Given the description of an element on the screen output the (x, y) to click on. 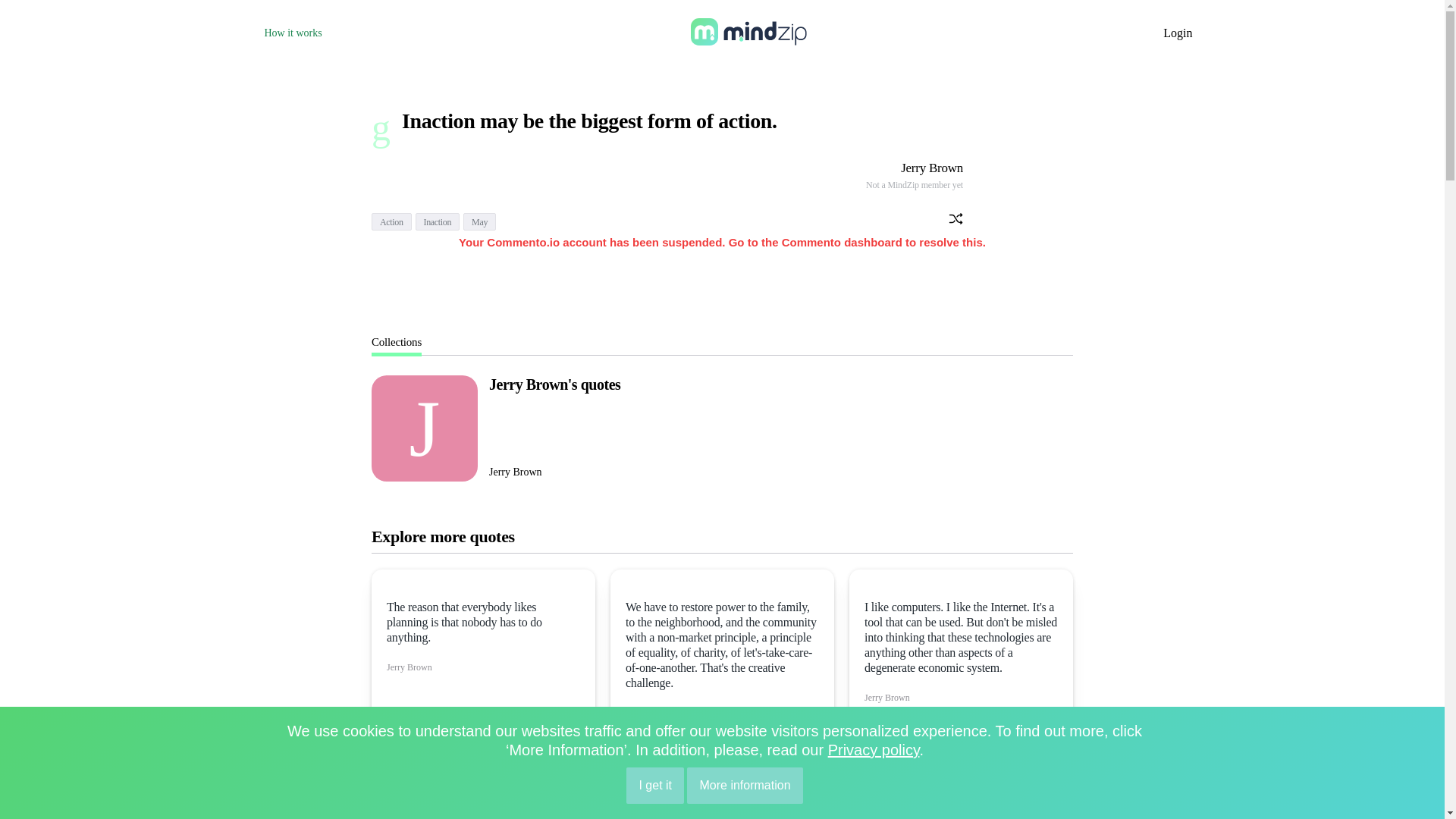
Jerry Brown (931, 167)
Collections (396, 341)
Show random quote (955, 219)
How it works (292, 32)
J (424, 428)
Login (1177, 31)
Jerry Brown's quotes (554, 384)
